Given the description of an element on the screen output the (x, y) to click on. 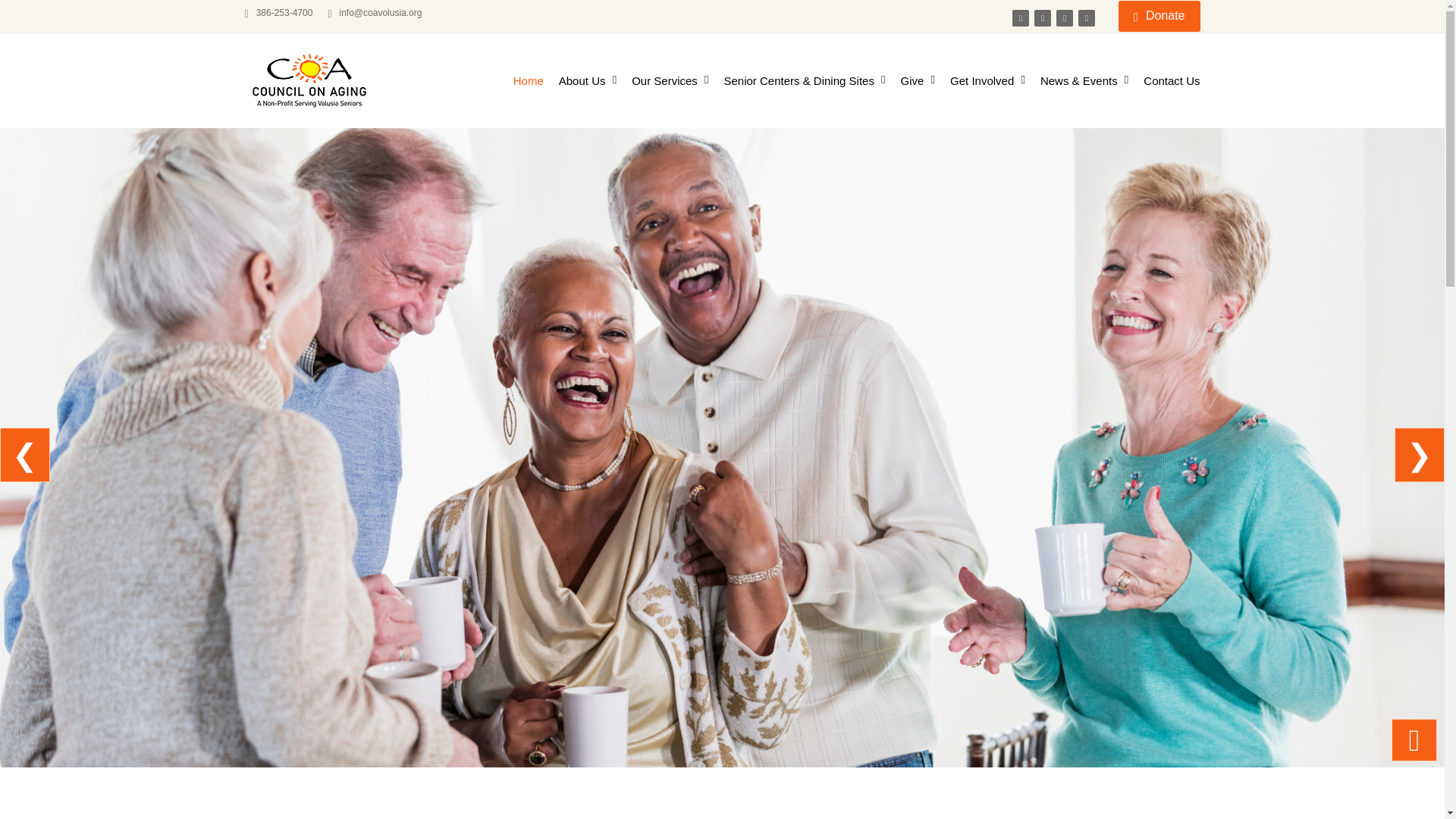
Pause Slideshow (1414, 740)
Donate (1158, 15)
Home (528, 80)
Our Services (669, 80)
About Us (587, 80)
